Given the description of an element on the screen output the (x, y) to click on. 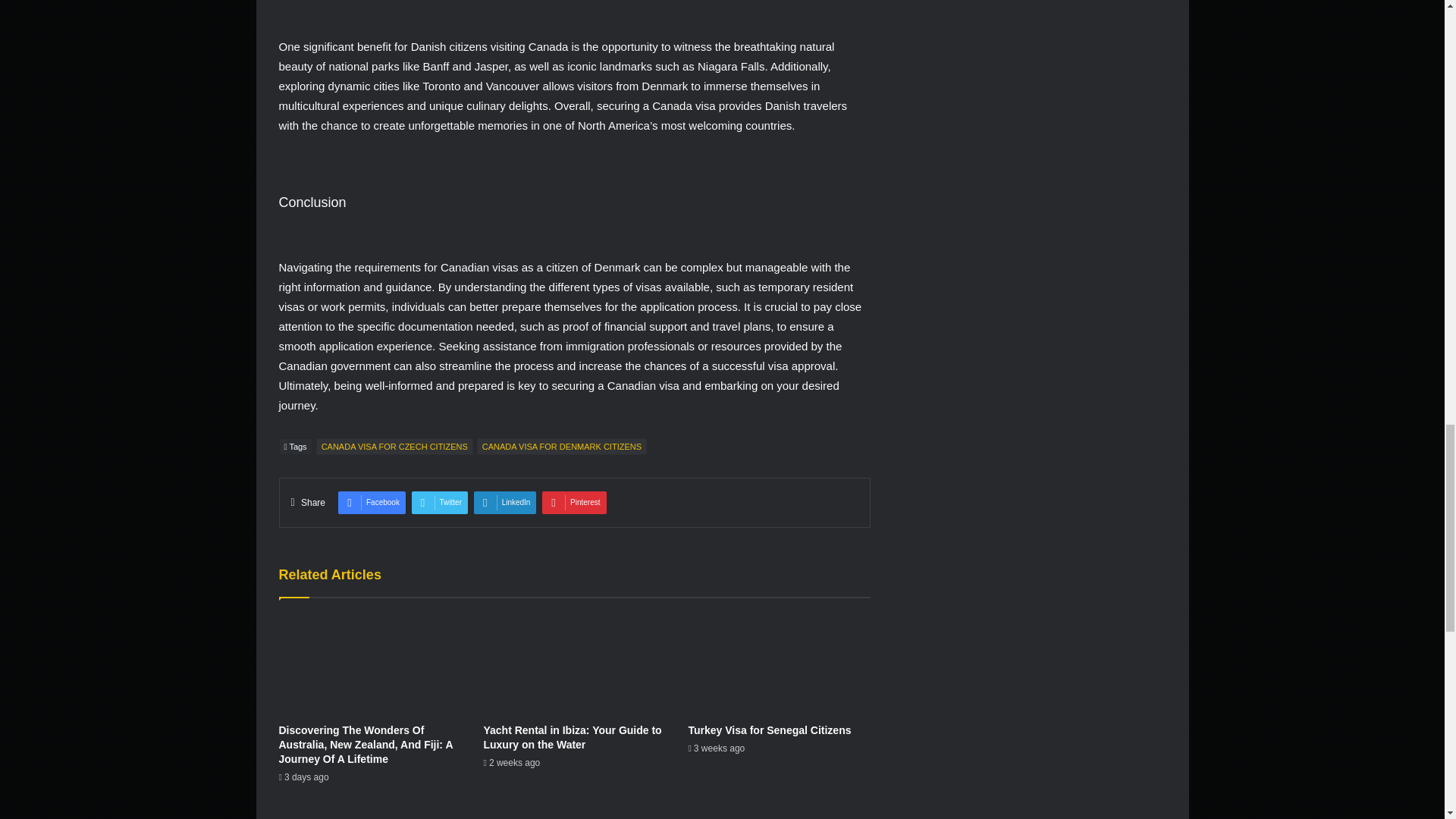
CANADA VISA FOR DENMARK CITIZENS (561, 446)
CANADA VISA FOR CZECH CITIZENS (394, 446)
